Given the description of an element on the screen output the (x, y) to click on. 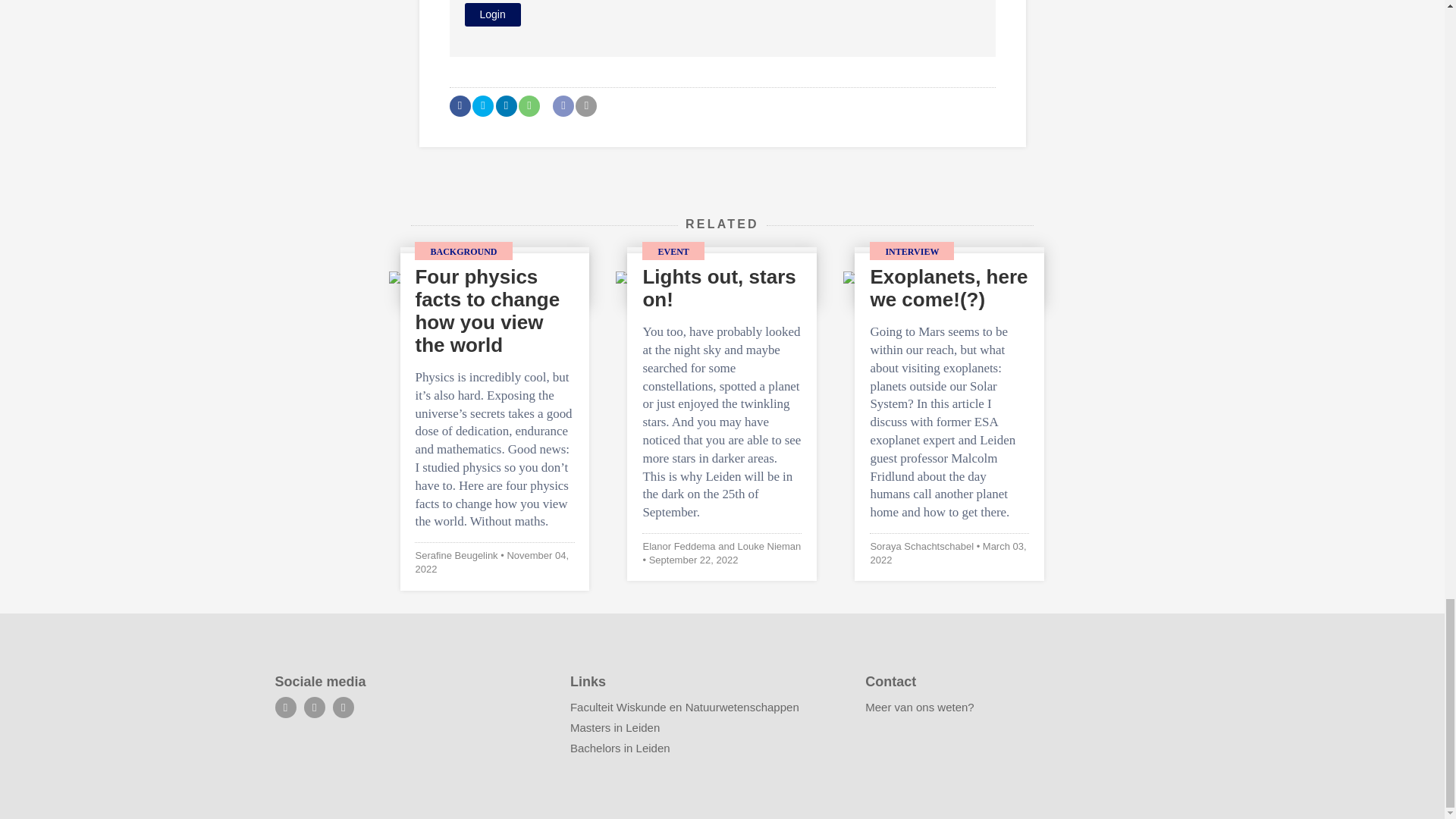
Masters in Leiden (614, 727)
Faculteit Wiskunde en Natuurwetenschappen (684, 707)
Bachelors in Leiden (619, 748)
Meer van ons weten? (919, 707)
